Given the description of an element on the screen output the (x, y) to click on. 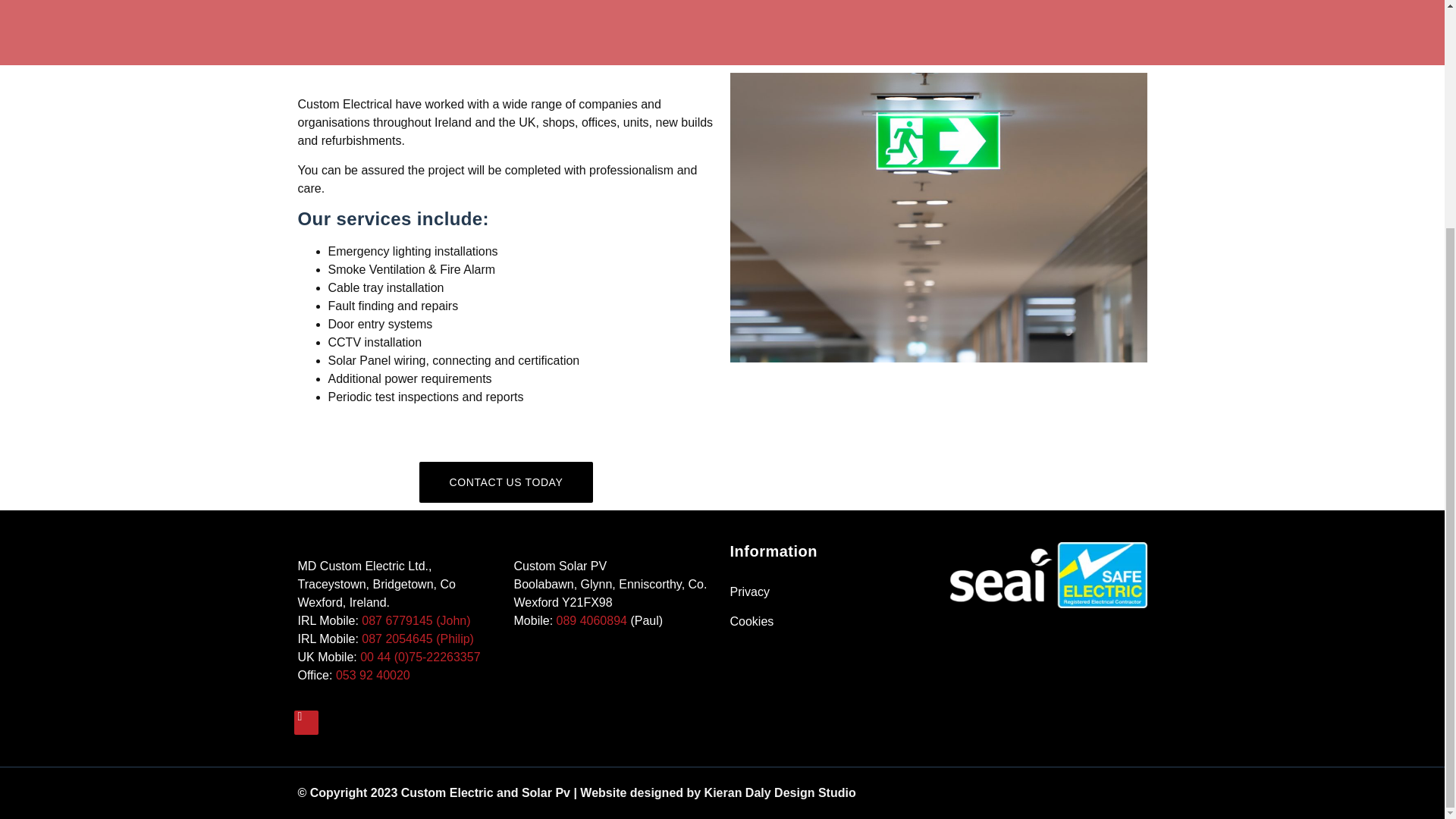
089 4060894 (591, 620)
Kieran Daly Design Studio (780, 792)
Privacy (829, 592)
053 92 40020 (373, 675)
CONTACT US TODAY (506, 481)
Cookies (829, 621)
